Given the description of an element on the screen output the (x, y) to click on. 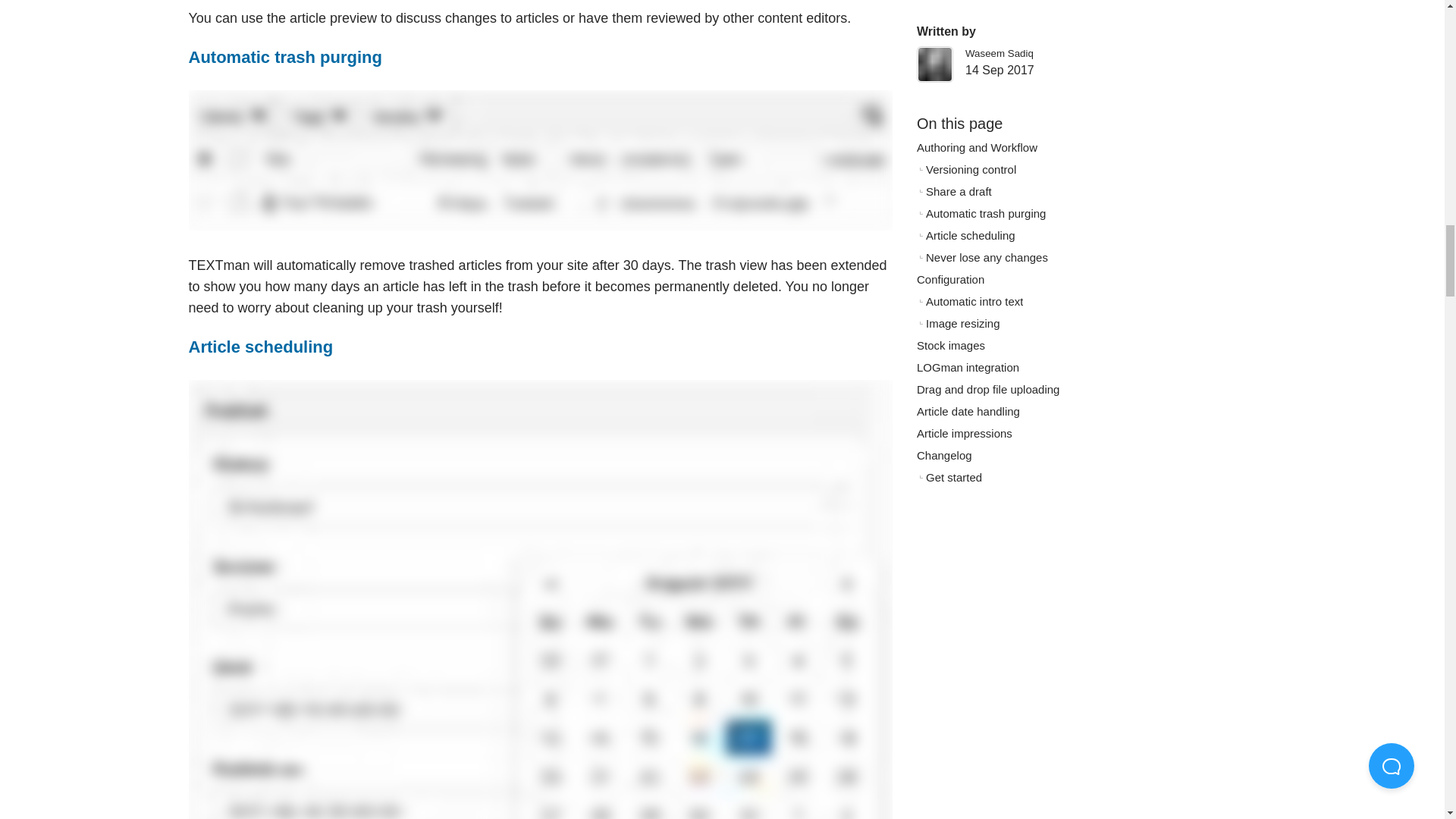
Automatic trash purging (284, 56)
Article scheduling (260, 346)
